Given the description of an element on the screen output the (x, y) to click on. 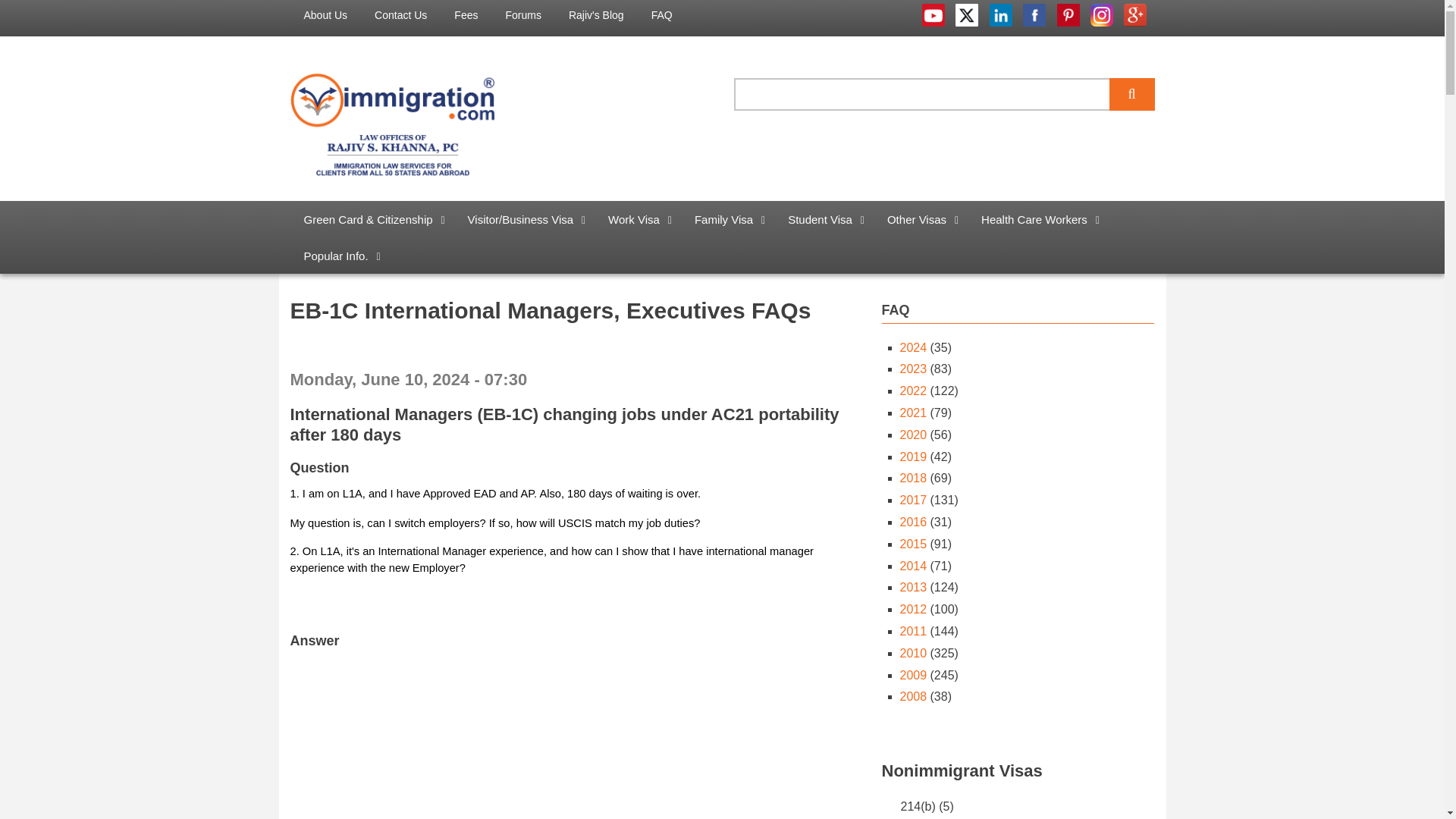
Apply (1131, 93)
FAQs (661, 15)
About Us (325, 15)
Forums (523, 15)
Apply (1131, 93)
Fees (466, 15)
Home (392, 123)
Rajiv's Blog (595, 15)
FAQ (661, 15)
Contact Us (401, 15)
